Given the description of an element on the screen output the (x, y) to click on. 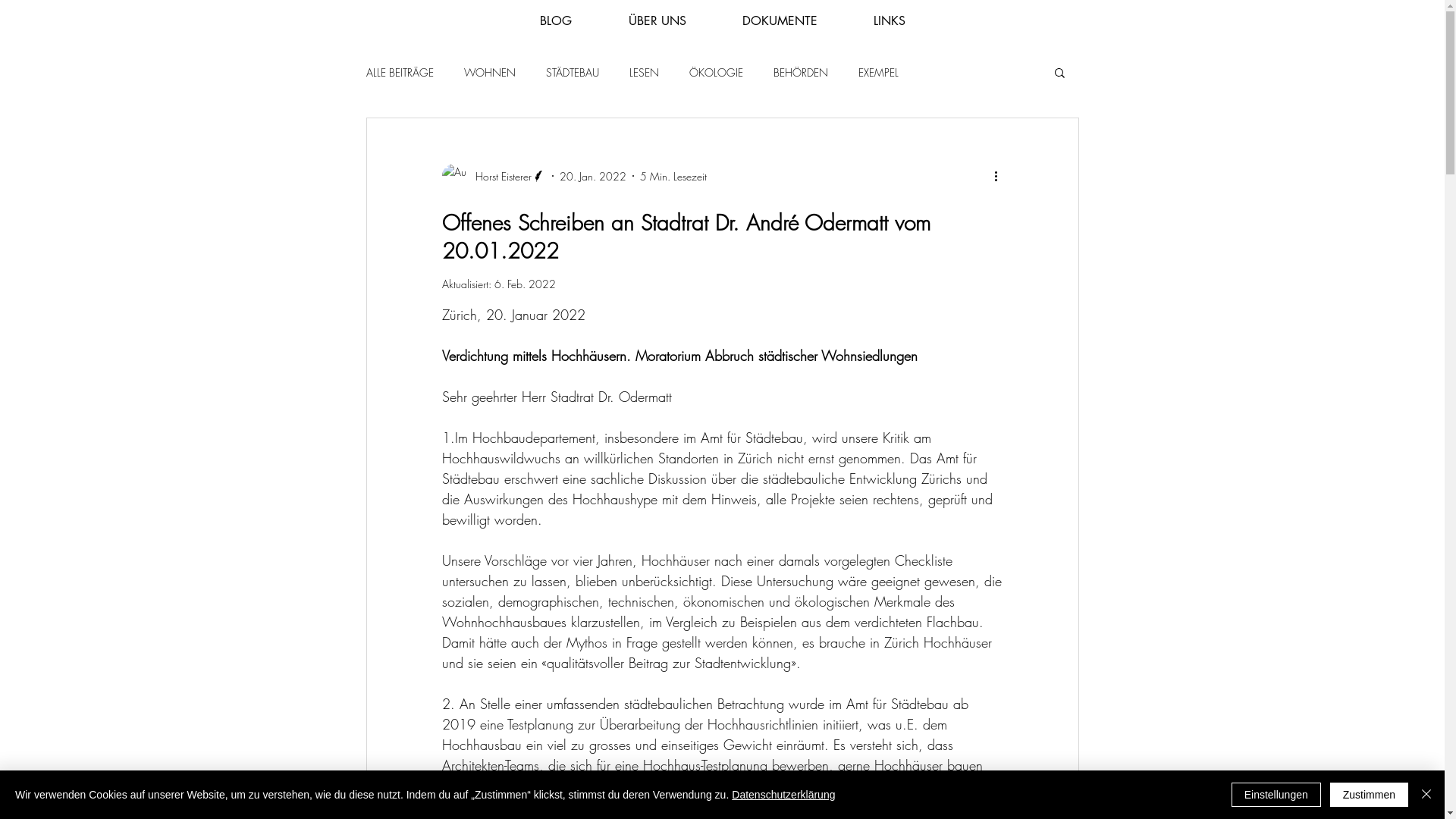
LESEN Element type: text (643, 72)
DOKUMENTE Element type: text (779, 20)
BLOG Element type: text (555, 20)
Zustimmen Element type: text (1369, 794)
WOHNEN Element type: text (489, 72)
EXEMPEL Element type: text (878, 72)
Einstellungen Element type: text (1276, 794)
LINKS Element type: text (888, 20)
